Given the description of an element on the screen output the (x, y) to click on. 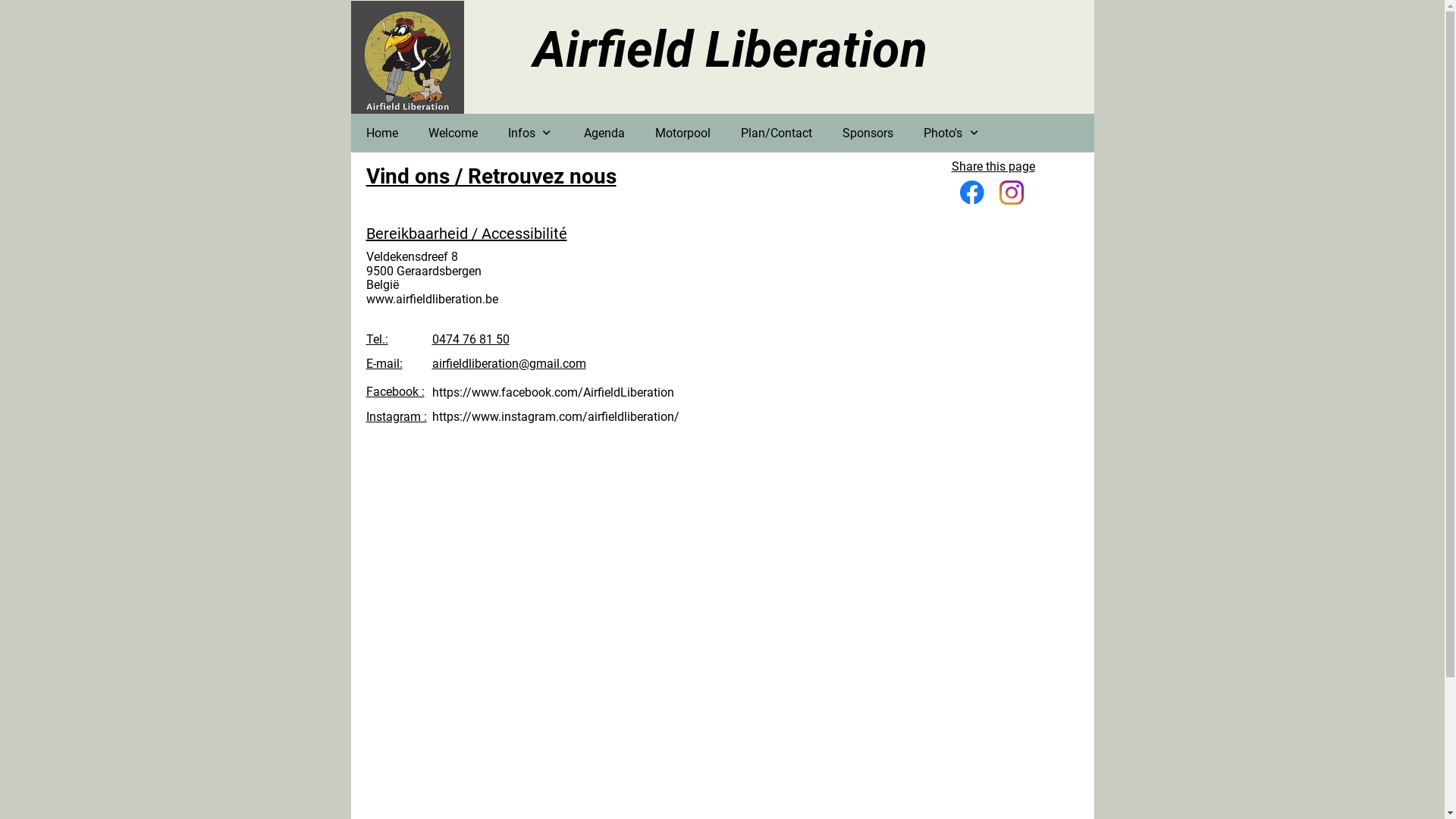
airfieldliberation@gmail.com Element type: text (509, 363)
0474 76 81 50 Element type: text (470, 339)
Plan/Contact Element type: text (776, 132)
Agenda Element type: text (604, 132)
Welcome Element type: text (452, 132)
Home Element type: text (381, 132)
Photo's Element type: text (952, 132)
Sponsors Element type: text (867, 132)
Airfield Liberation Element type: text (729, 49)
Infos Element type: text (530, 132)
Motorpool Element type: text (682, 132)
